Given the description of an element on the screen output the (x, y) to click on. 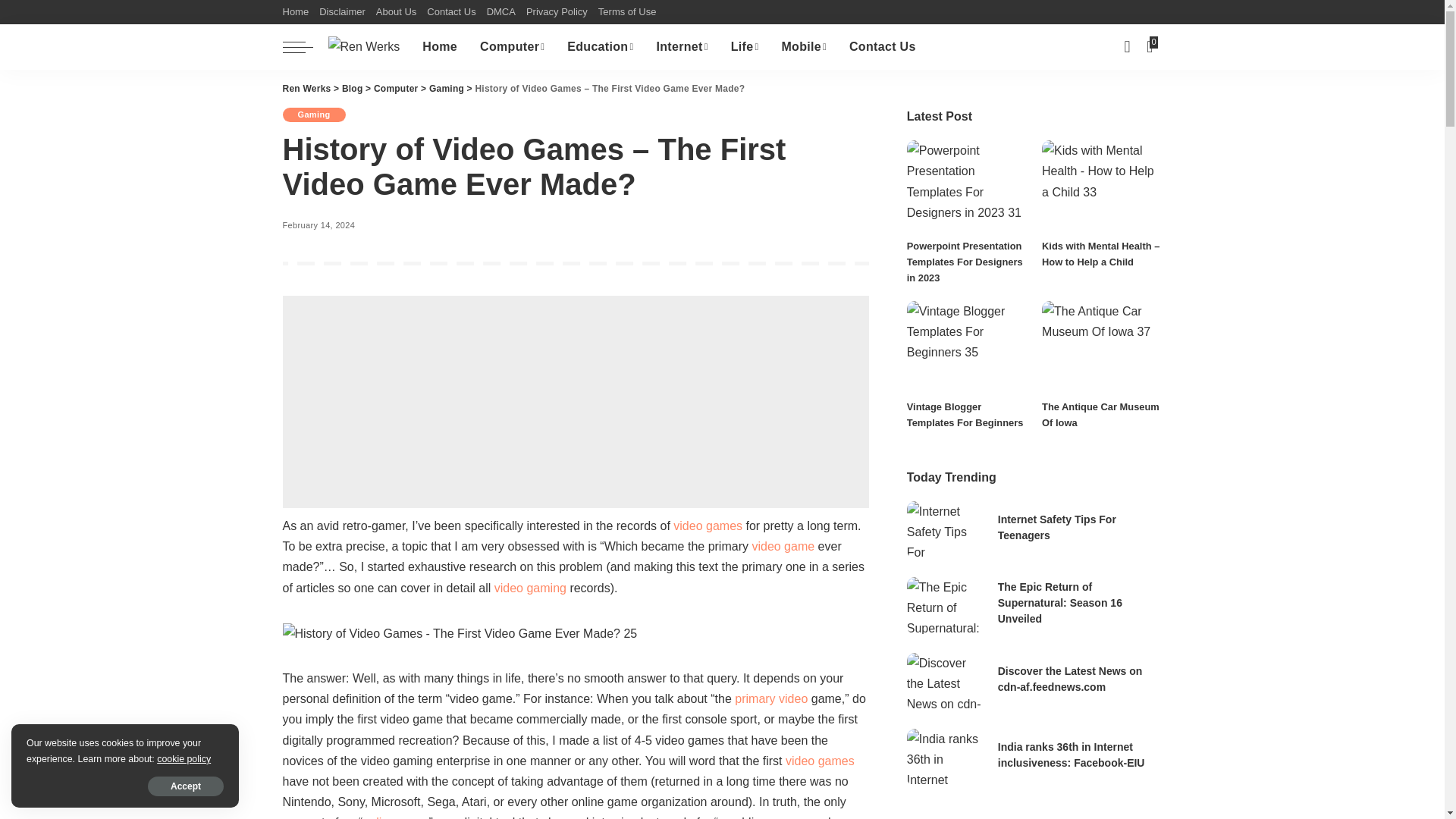
Ren Werks (362, 46)
